Given the description of an element on the screen output the (x, y) to click on. 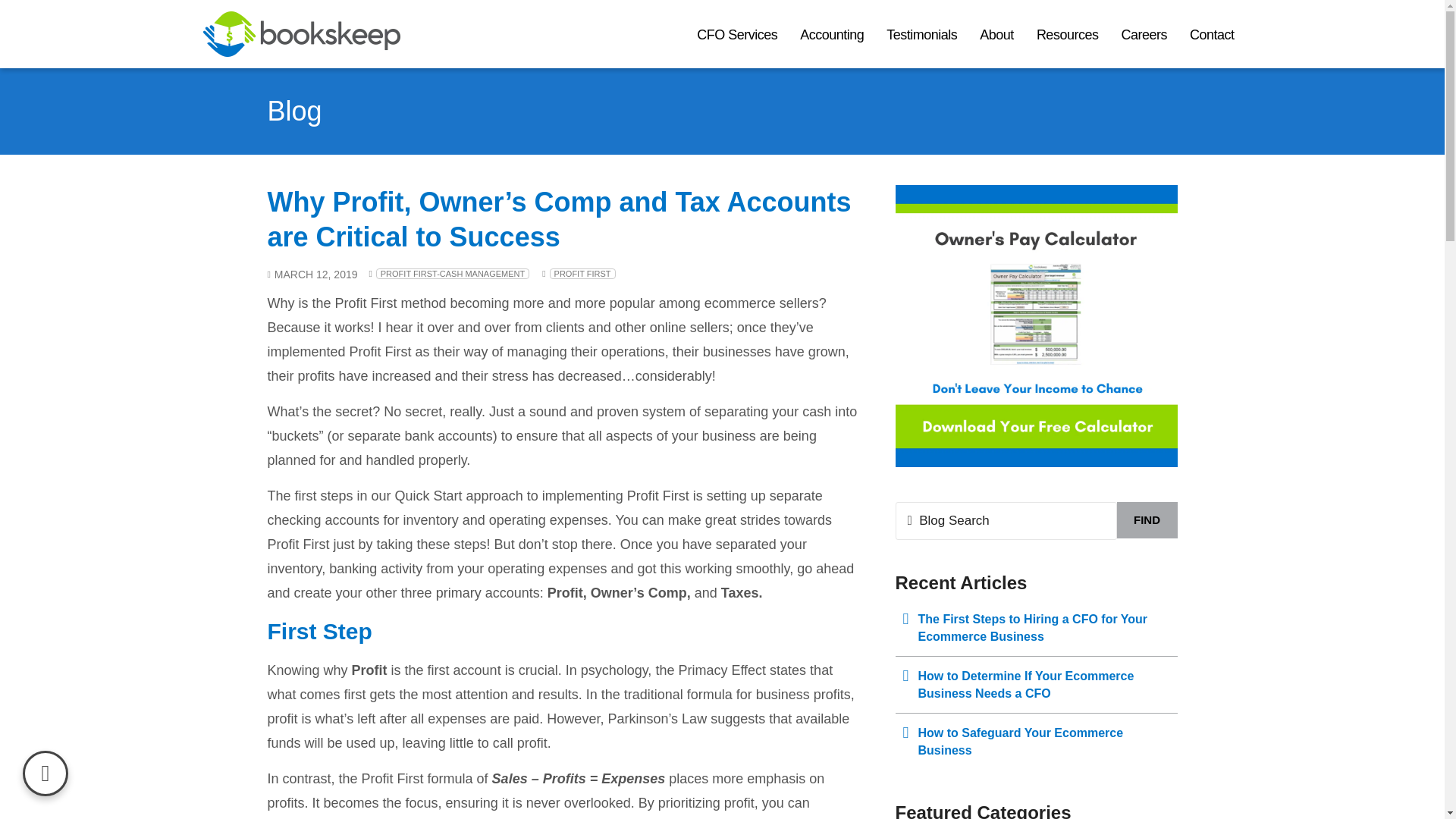
Resources (1067, 34)
The First Steps to Hiring a CFO for Your Ecommerce Business (1035, 627)
Accounting (832, 34)
How to Determine If Your Ecommerce Business Needs a CFO (1035, 684)
About (996, 34)
Testimonials (921, 34)
Contact (1211, 34)
Careers (1143, 34)
PROFIT FIRST-CASH MANAGEMENT (452, 273)
FIND (1146, 520)
